Given the description of an element on the screen output the (x, y) to click on. 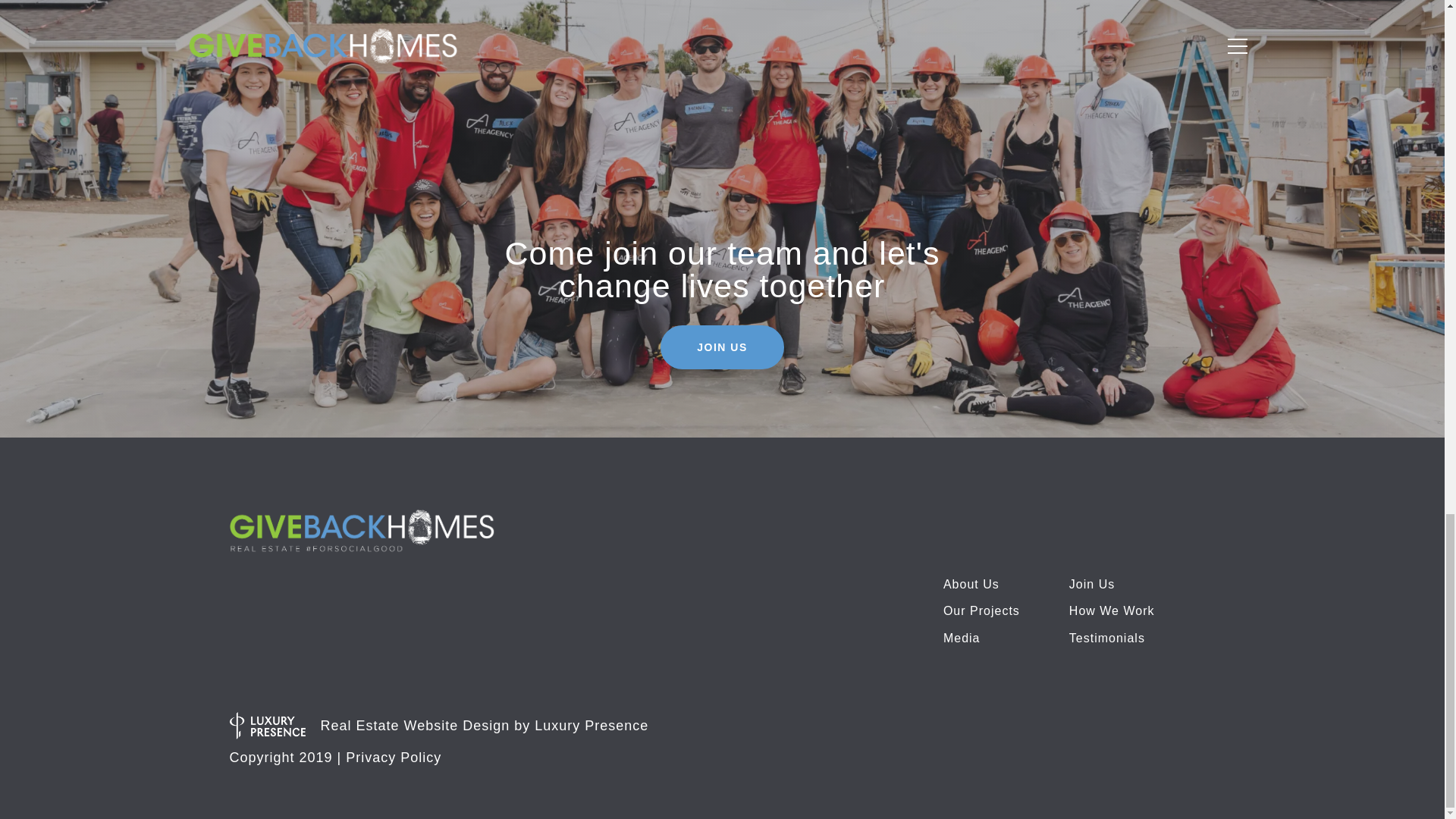
JOIN US (722, 347)
